Given the description of an element on the screen output the (x, y) to click on. 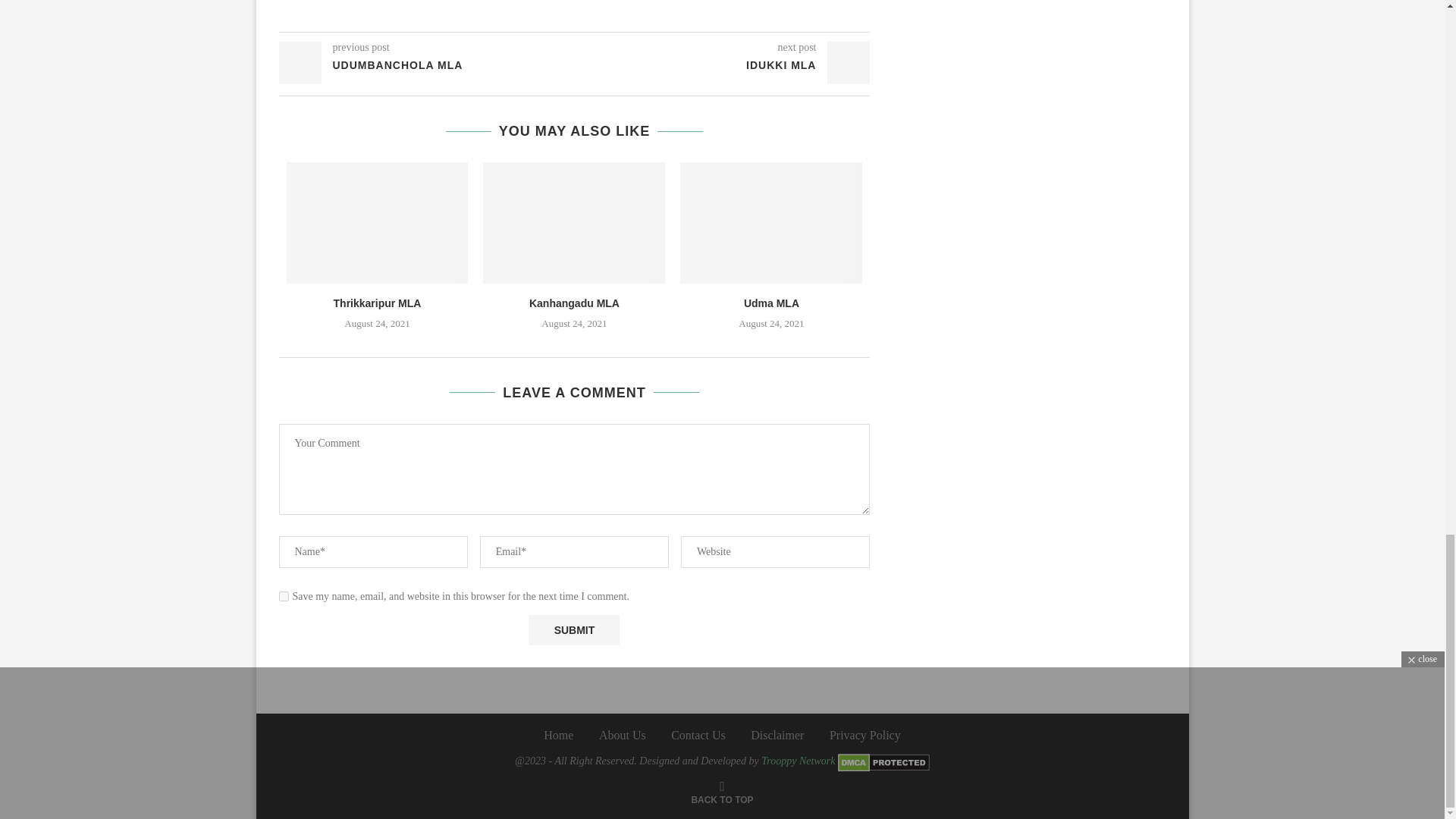
Submit (574, 630)
IDUKKI MLA (722, 65)
UDUMBANCHOLA MLA (427, 65)
Kanhangadu MLA (574, 222)
Submit (574, 630)
Udma MLA (770, 222)
Thrikkaripur MLA (377, 222)
Kanhangadu MLA (574, 303)
Thrikkaripur MLA (377, 303)
yes (283, 596)
